Given the description of an element on the screen output the (x, y) to click on. 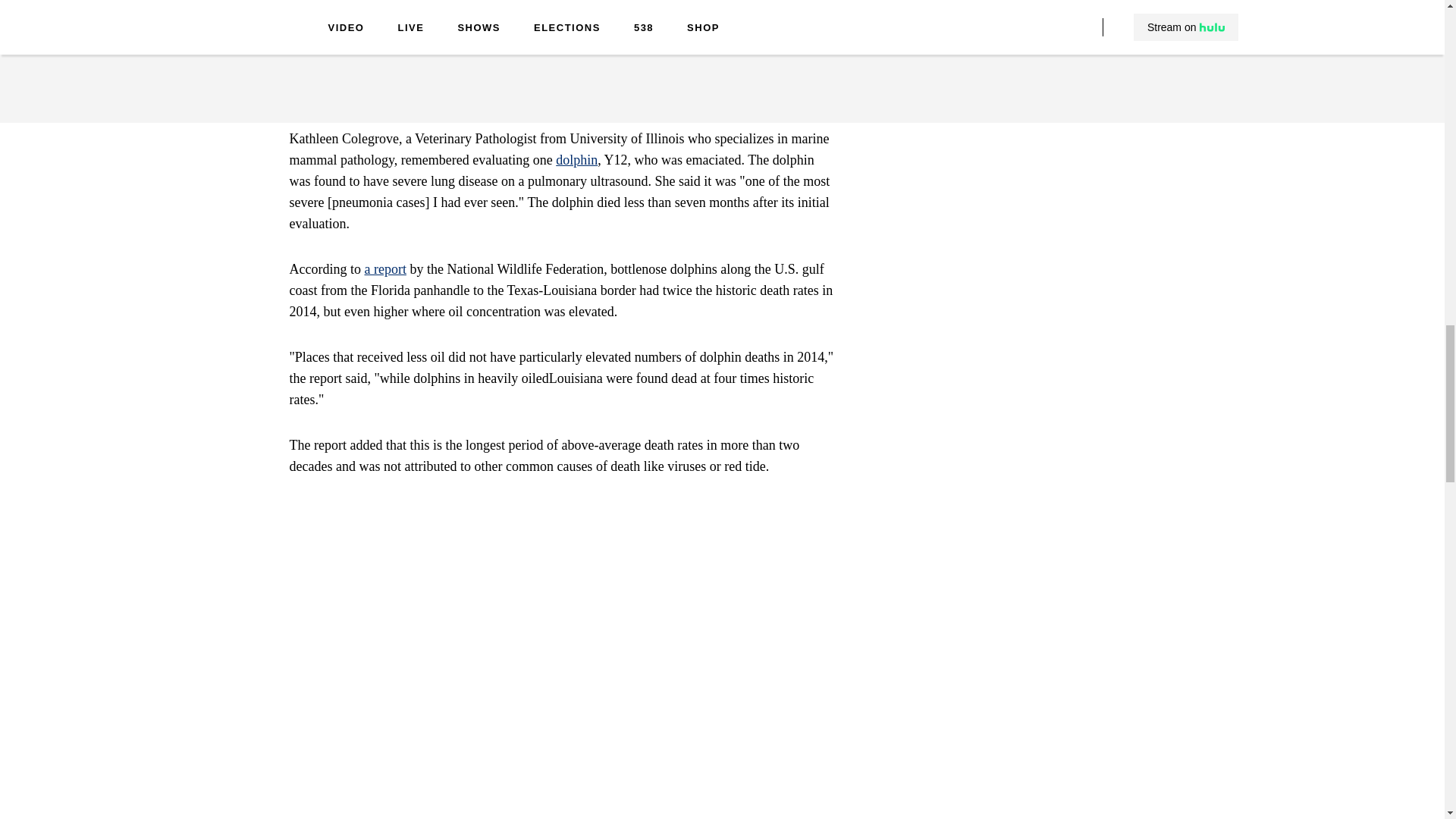
dolphin (576, 159)
a report (385, 268)
